Given the description of an element on the screen output the (x, y) to click on. 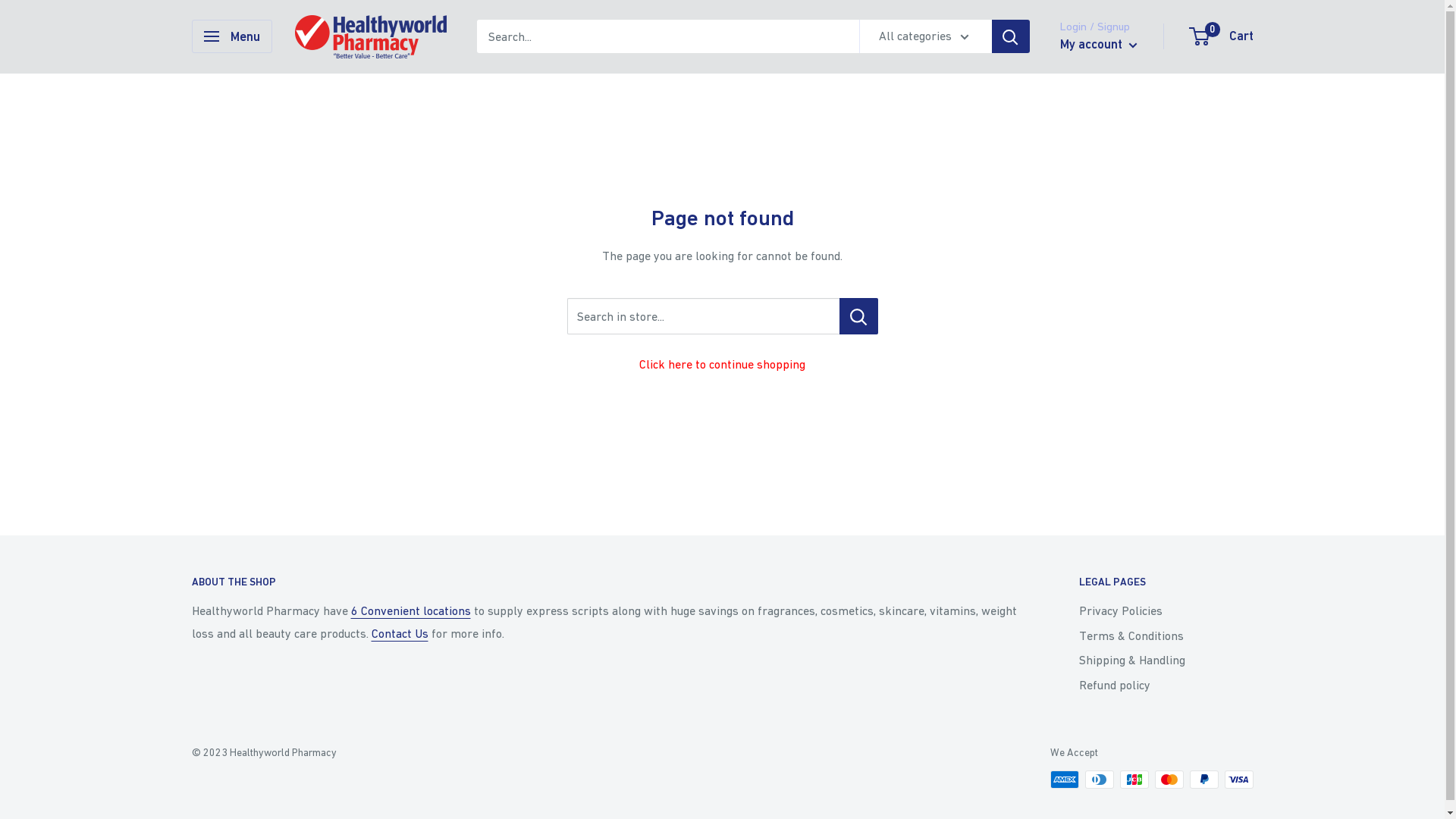
My account Element type: text (1098, 44)
LEGAL PAGES Element type: text (1165, 582)
Shipping & Handling Element type: text (1165, 659)
6 Convenient locations Element type: text (410, 610)
ABOUT THE SHOP Element type: text (608, 582)
Privacy Policies Element type: text (1165, 610)
Refund policy Element type: text (1165, 684)
Terms & Conditions Element type: text (1165, 635)
Healthyworld Pharmacy Element type: text (369, 36)
Menu Element type: text (231, 36)
Contact Us Element type: text (399, 633)
0
Cart Element type: text (1221, 36)
Click here to continue shopping Element type: text (722, 363)
